Given the description of an element on the screen output the (x, y) to click on. 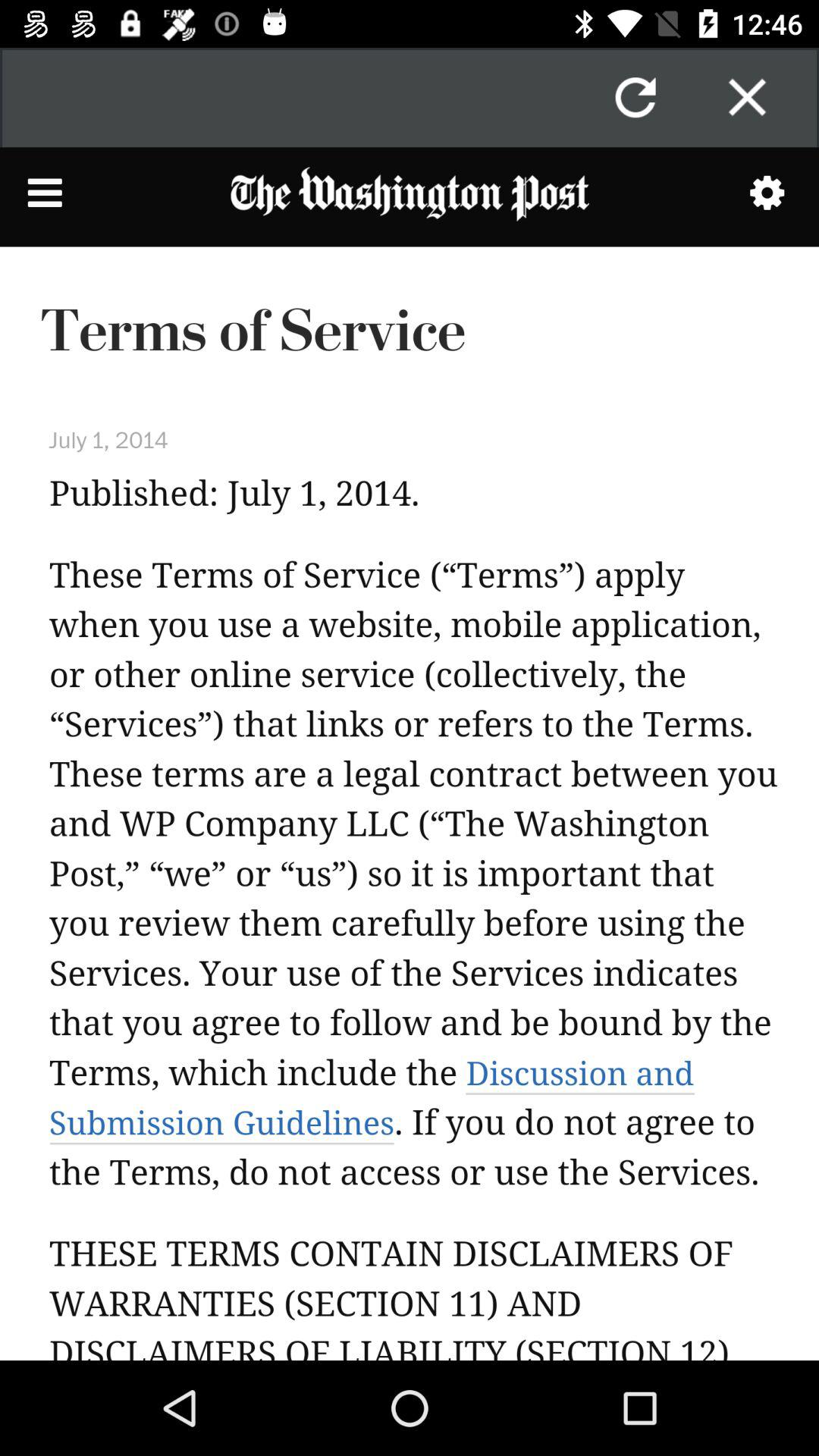
option close (747, 97)
